Given the description of an element on the screen output the (x, y) to click on. 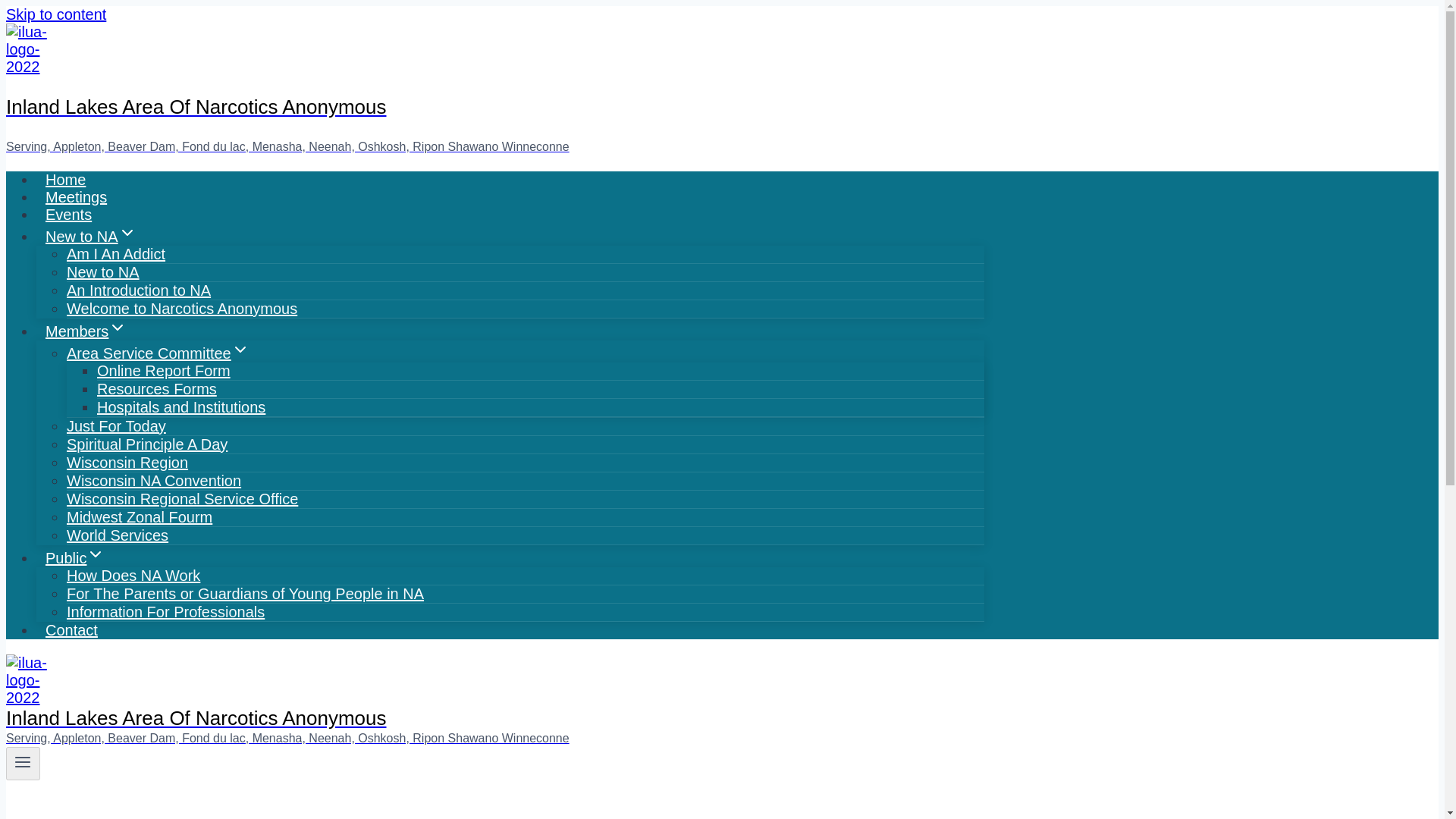
Expand (116, 327)
Expand (126, 232)
Information For Professionals (165, 611)
Hospitals and Institutions (180, 407)
Wisconsin NA Convention (153, 480)
Spiritual Principle A Day (146, 443)
New to NAExpand (90, 235)
Contact (71, 629)
Toggle Menu (22, 763)
PublicExpand (74, 557)
New to NA (102, 271)
Midwest Zonal Fourm (139, 516)
Welcome to Narcotics Anonymous (181, 308)
Am I An Addict (115, 253)
